Given the description of an element on the screen output the (x, y) to click on. 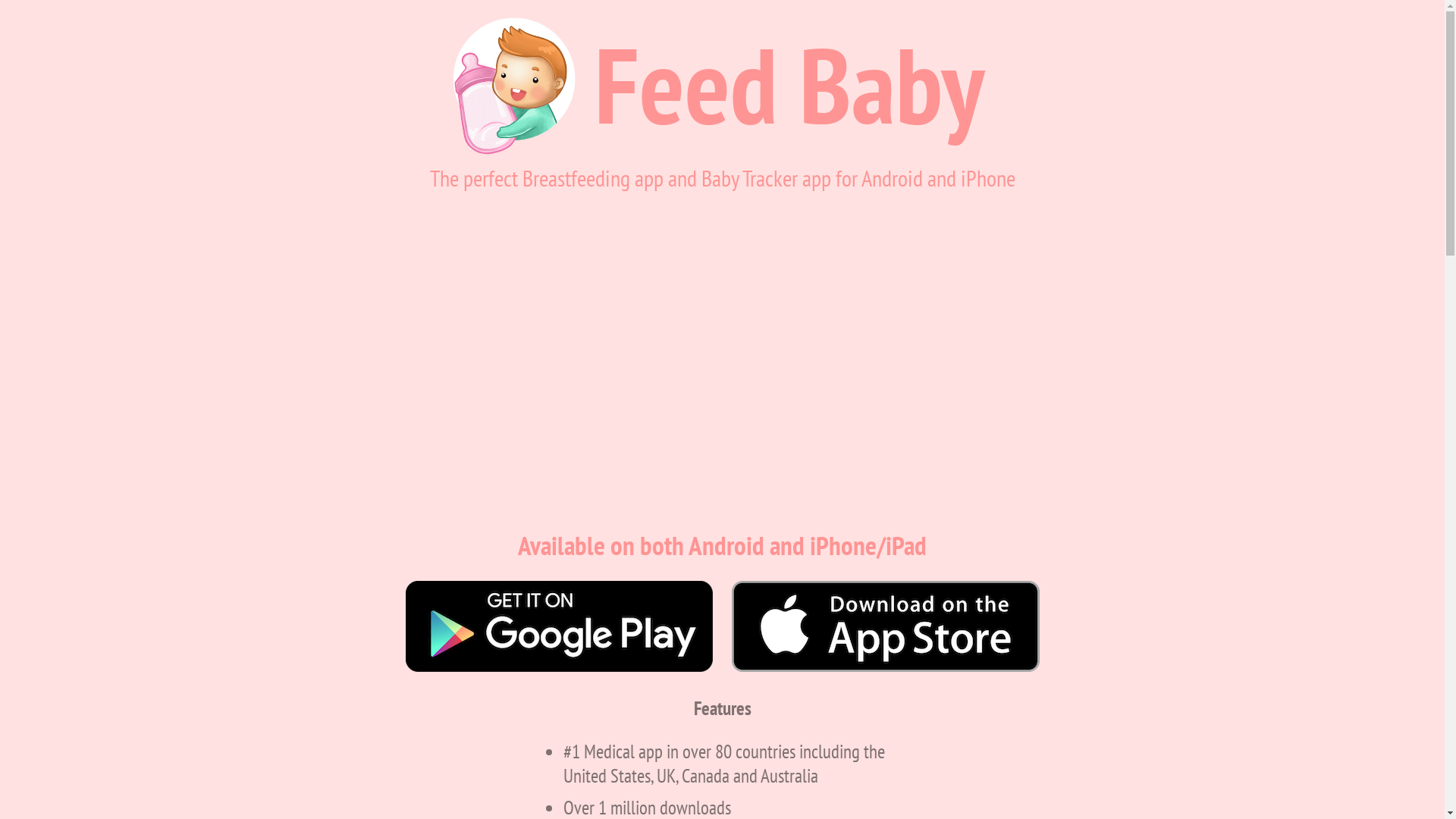
Feed Baby Element type: text (789, 84)
